Given the description of an element on the screen output the (x, y) to click on. 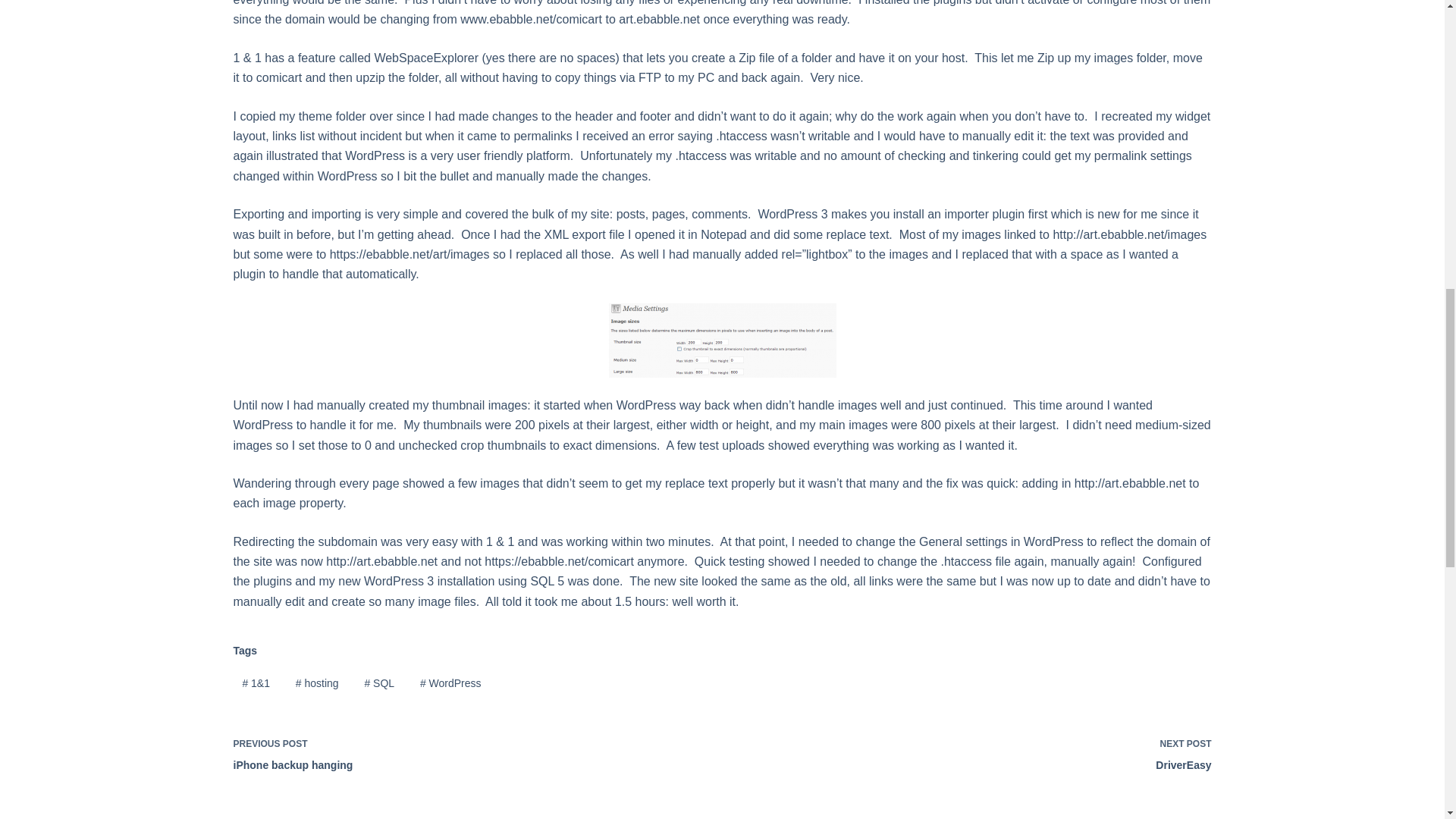
WordPress media settings (986, 753)
